Given the description of an element on the screen output the (x, y) to click on. 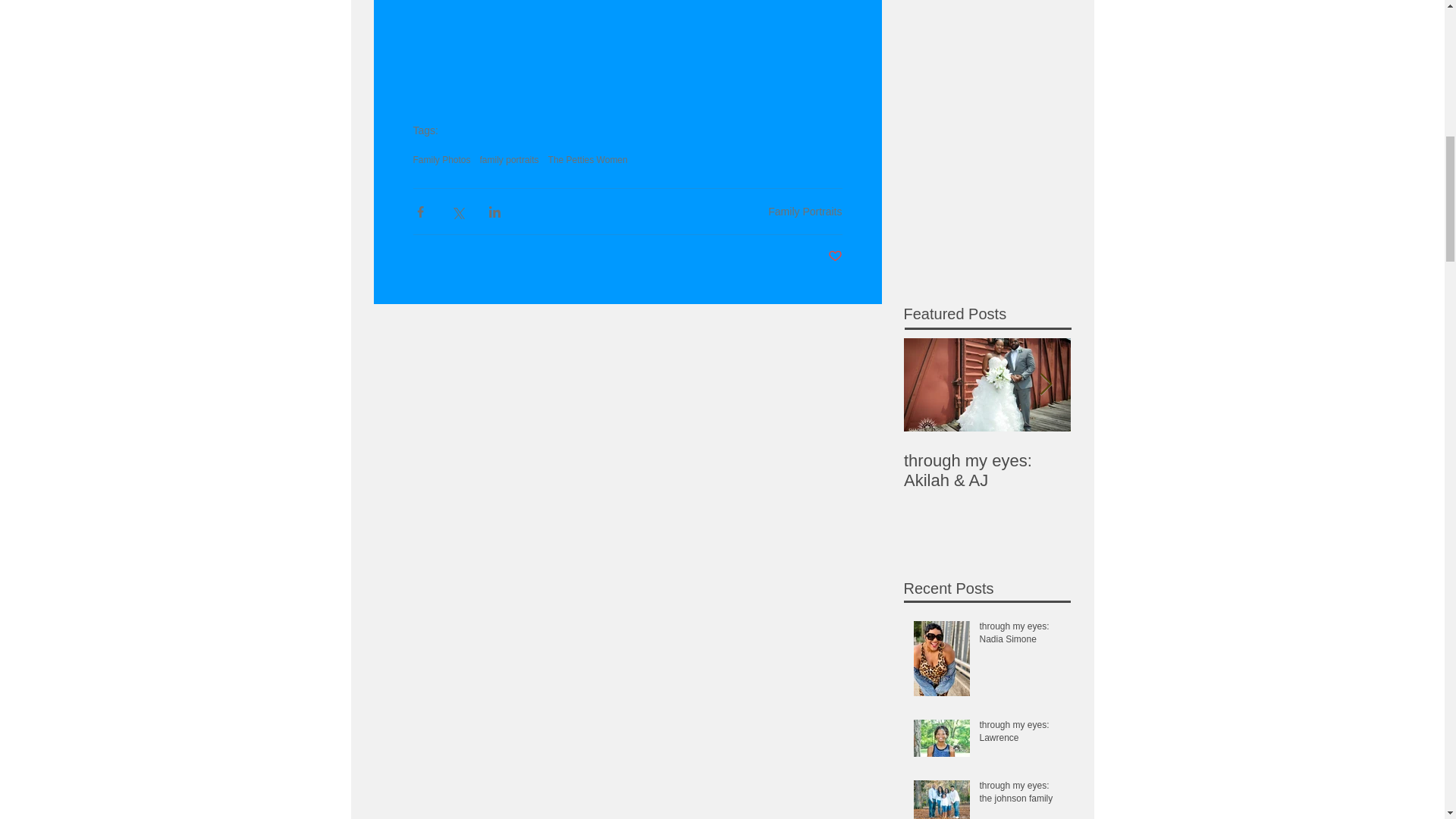
Family Photos (441, 159)
through my eyes: Samantha (1153, 470)
through my eyes: Nadia Simone (1020, 635)
Post not marked as liked (835, 256)
through my eyes: Lawrence (1020, 735)
Family Portraits (804, 210)
The Petties Women (587, 159)
family portraits (509, 159)
through my eyes: the johnson family (1020, 795)
